Given the description of an element on the screen output the (x, y) to click on. 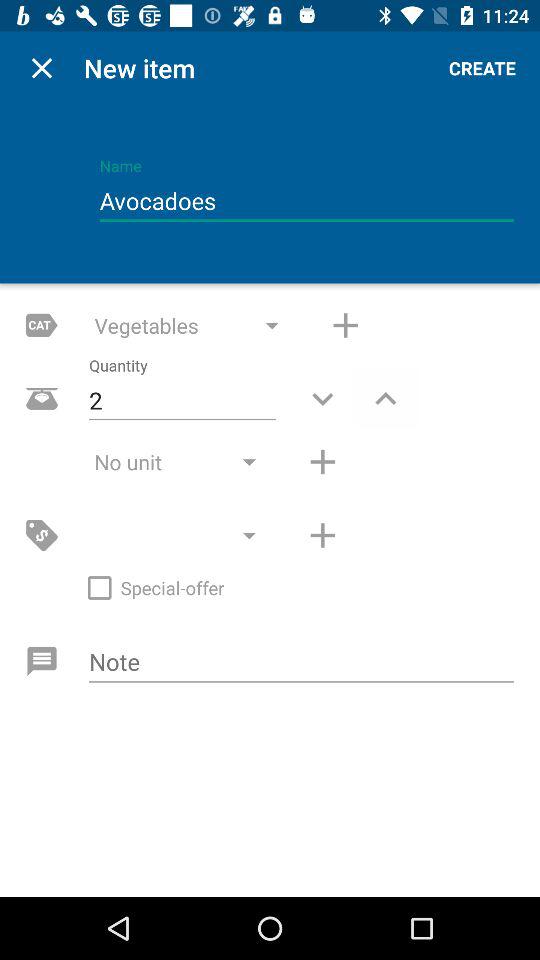
close current item (42, 68)
